Given the description of an element on the screen output the (x, y) to click on. 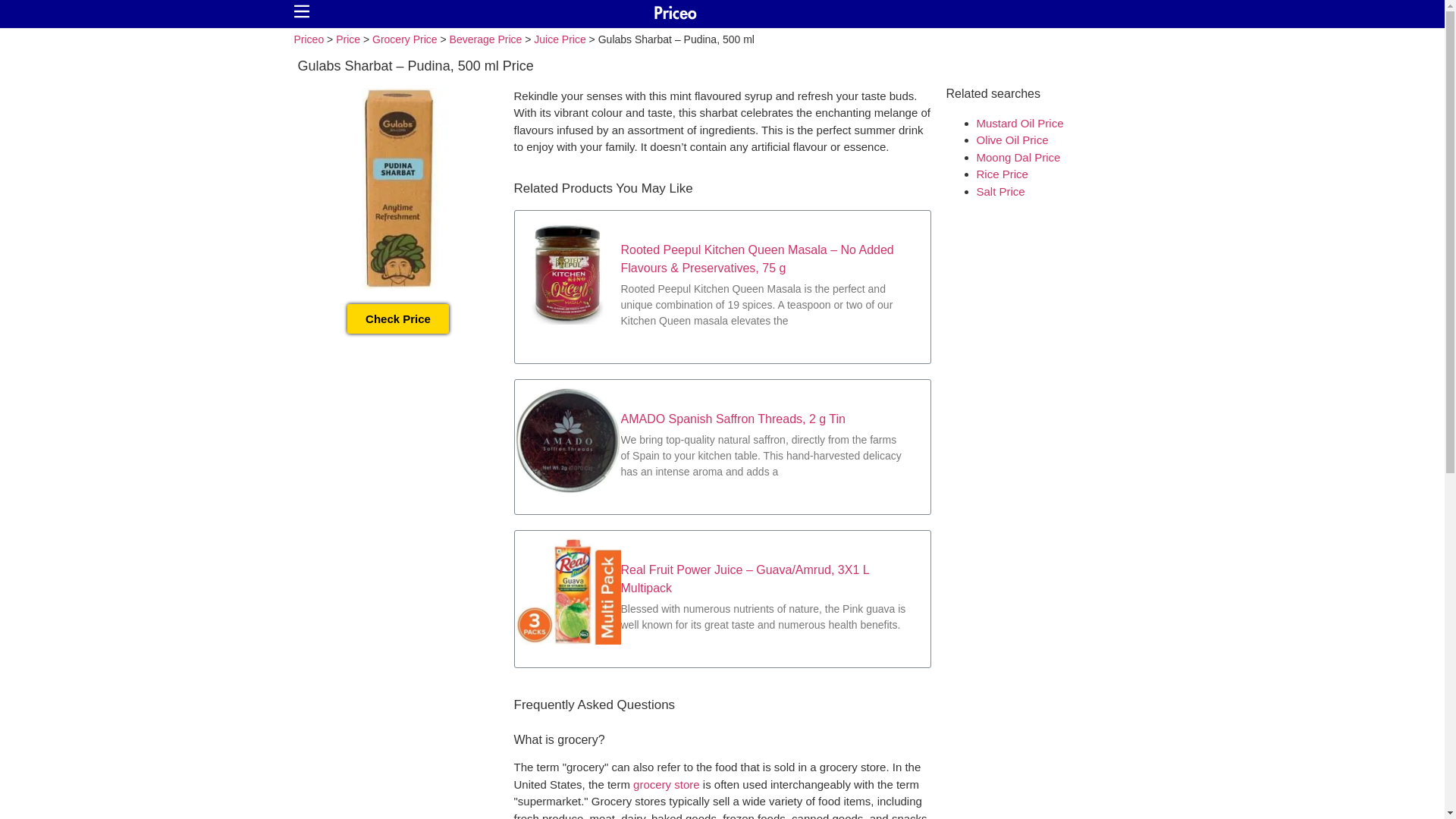
Olive Oil Price (1012, 139)
Juice Price (559, 39)
Salt Price (1000, 191)
Rice Price (1001, 173)
Price (347, 39)
Priceo (309, 39)
Check Price (397, 317)
Beverage Price (485, 39)
Mustard Oil Price (1020, 123)
grocery store (666, 784)
Moong Dal Price (1018, 155)
AMADO Spanish Saffron Threads, 2 g Tin (732, 418)
Grocery Price (405, 39)
